Given the description of an element on the screen output the (x, y) to click on. 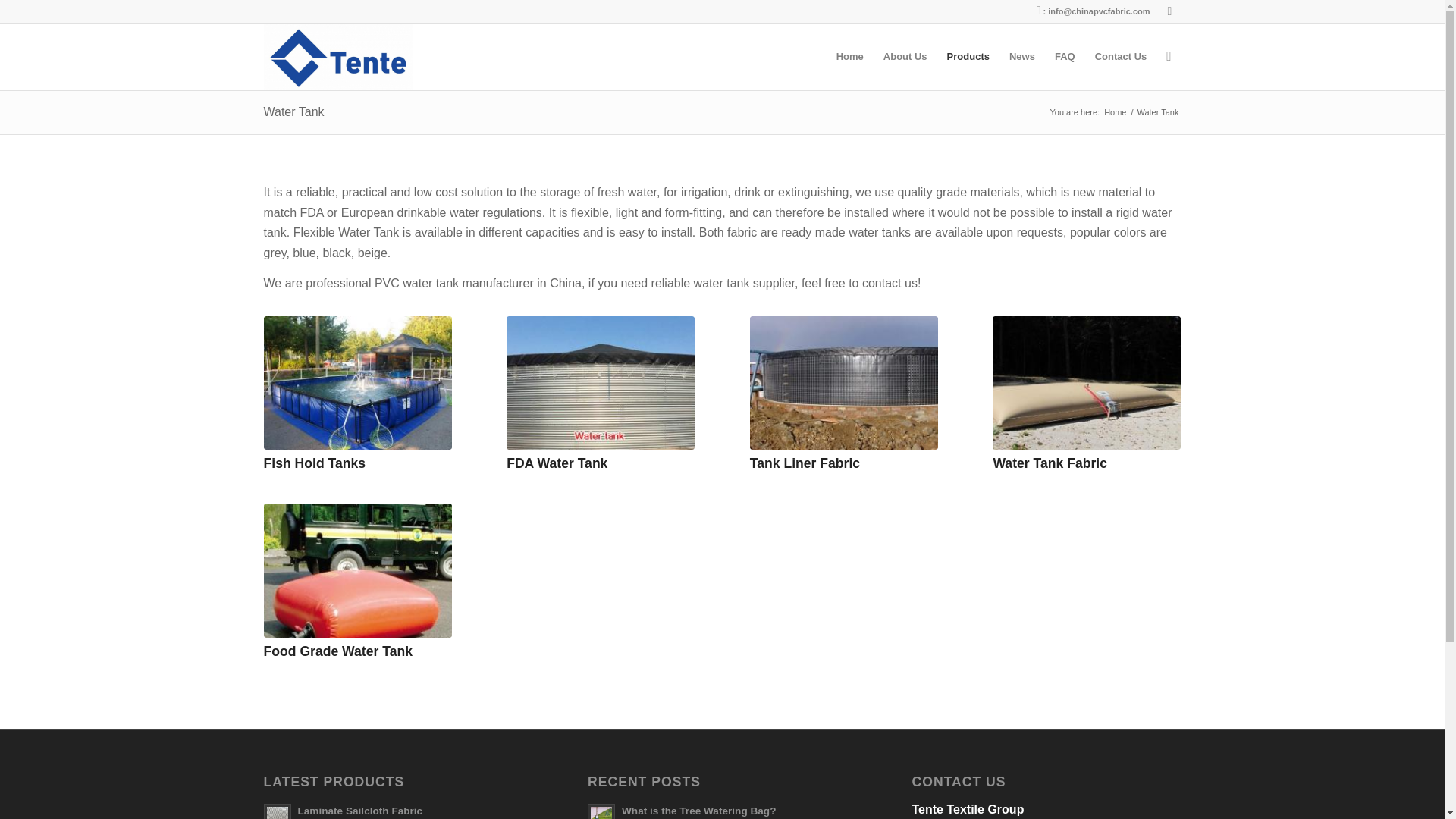
FDA Water Tank (600, 382)
Water Tank (293, 111)
Tank Liner Fabric (804, 462)
Fish Hold Tanks (357, 382)
Facebook (1169, 11)
Permanent Link: Water Tank (293, 111)
Water Tank Fabric (1049, 462)
Water Tank Fabric (1086, 382)
Fish Hold Tanks (314, 462)
FDA Water Tank (556, 462)
